Given the description of an element on the screen output the (x, y) to click on. 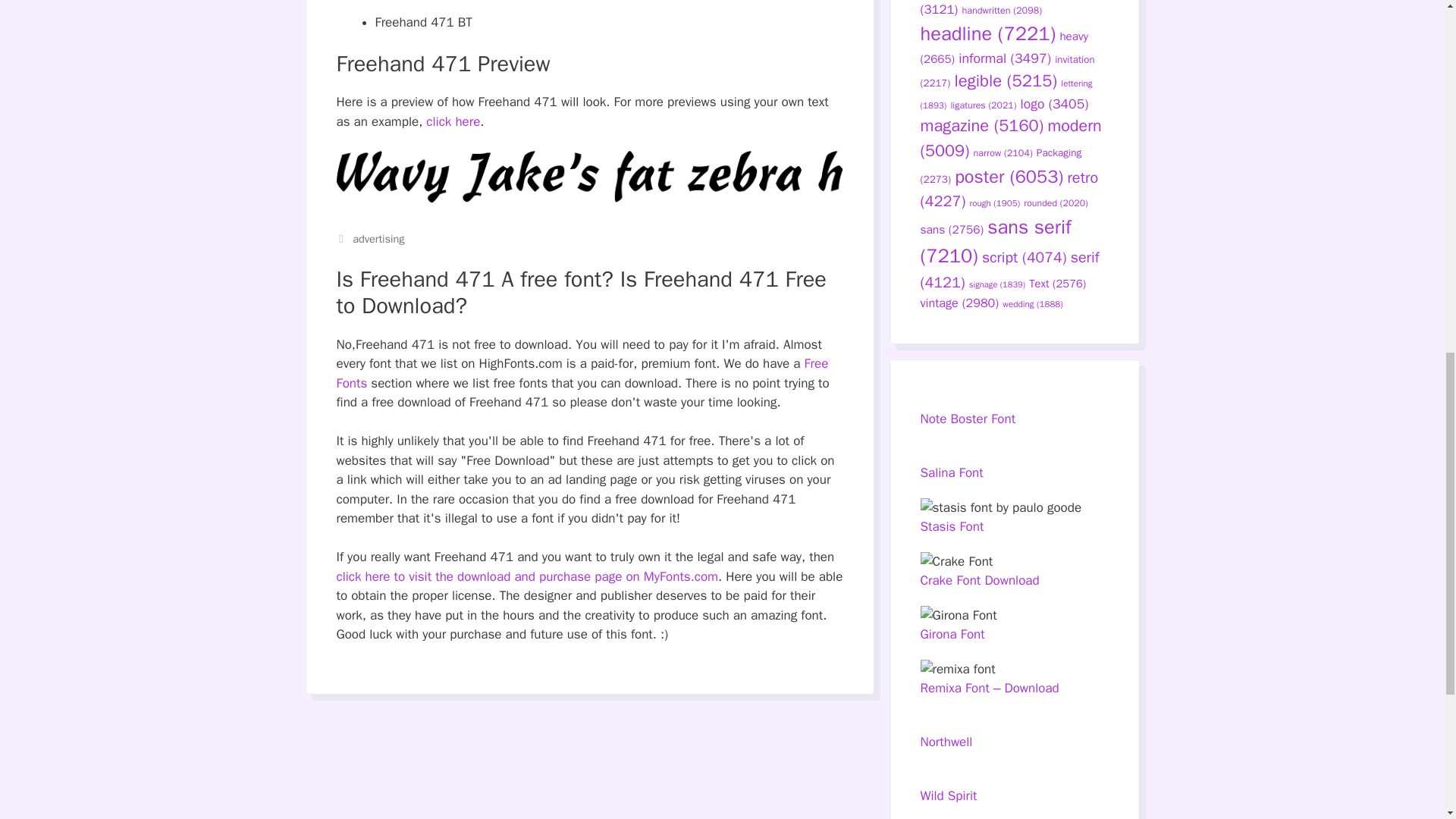
advertising (378, 238)
click here (453, 121)
Free Fonts (582, 373)
